Given the description of an element on the screen output the (x, y) to click on. 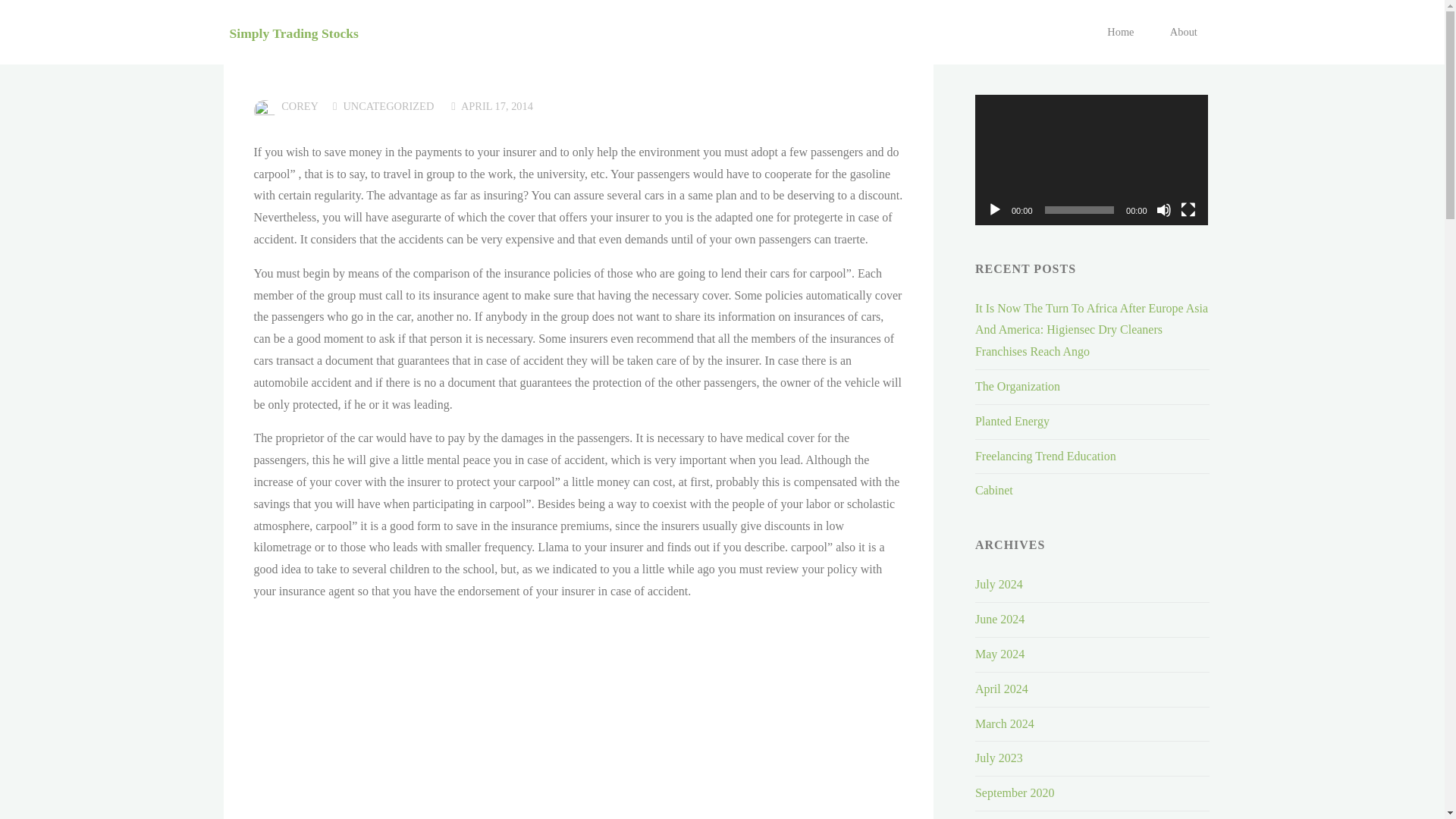
July 2024 (999, 584)
The Organization (1017, 386)
Facilitating the process of stock trading. (293, 32)
Freelancing Trend Education (1045, 455)
UNCATEGORIZED (387, 106)
Planted Energy (1012, 420)
July 2023 (999, 757)
March 2024 (1004, 723)
Play (995, 209)
September 2020 (1014, 792)
View all posts by Corey (298, 106)
April 2024 (1001, 688)
Mute (1164, 209)
Simply Trading Stocks (293, 32)
